Given the description of an element on the screen output the (x, y) to click on. 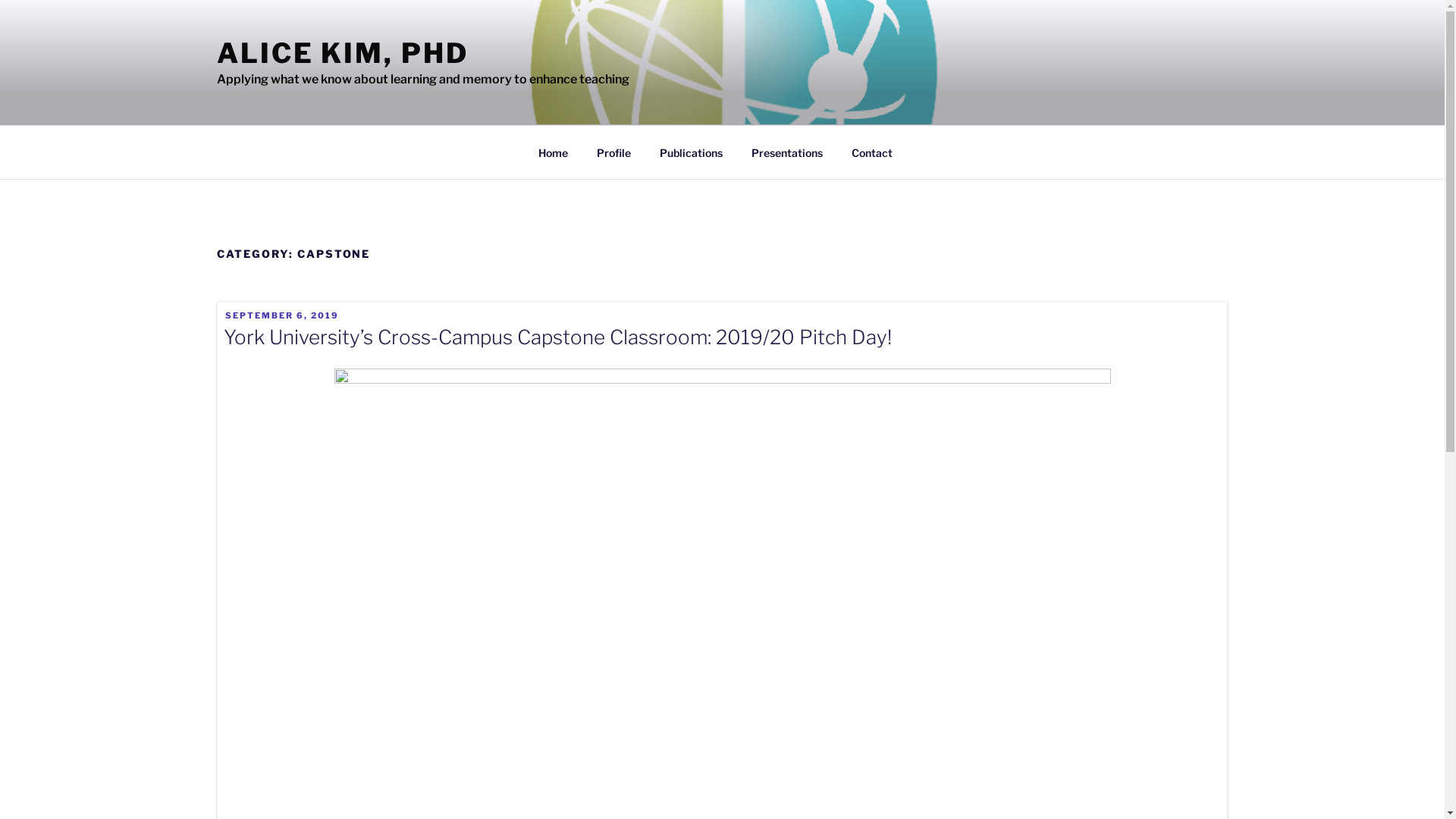
Profile Element type: text (613, 151)
Publications Element type: text (691, 151)
Presentations Element type: text (787, 151)
SEPTEMBER 6, 2019 Element type: text (281, 315)
Home Element type: text (553, 151)
ALICE KIM, PHD Element type: text (341, 52)
Contact Element type: text (872, 151)
